Given the description of an element on the screen output the (x, y) to click on. 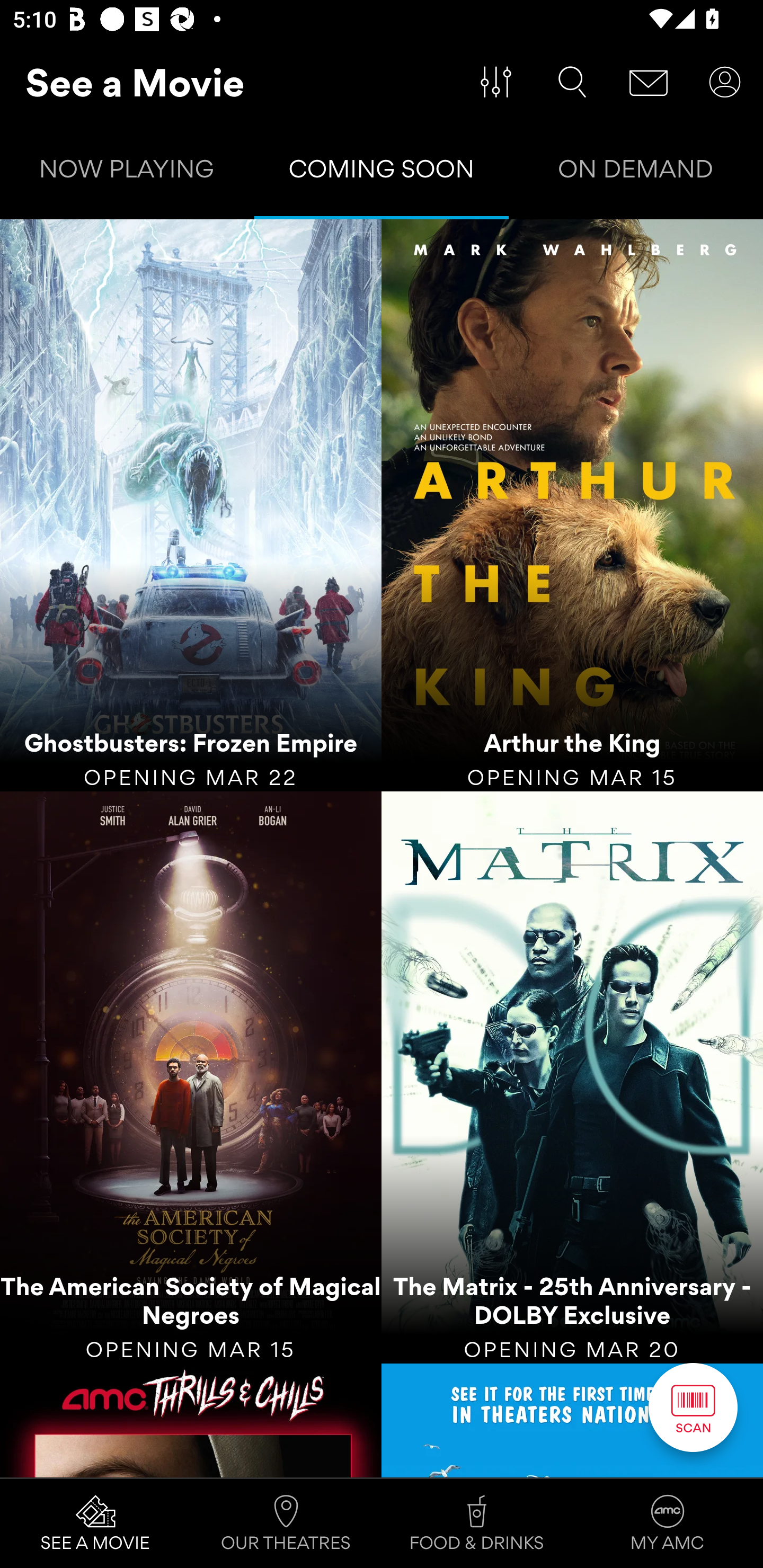
Filter Movies (495, 82)
Search (572, 82)
Message Center (648, 82)
User Account (724, 82)
NOW PLAYING
Tab 1 of 3 (127, 173)
COMING SOON
Tab 2 of 3 (381, 173)
ON DEMAND
Tab 3 of 3 (635, 173)
Ghostbusters: Frozen Empire
OPENING MAR 22 (190, 505)
Arthur the King
OPENING MAR 15 (572, 505)
Scan Button (692, 1406)
SEE A MOVIE
Tab 1 of 4 (95, 1523)
OUR THEATRES
Tab 2 of 4 (285, 1523)
FOOD & DRINKS
Tab 3 of 4 (476, 1523)
MY AMC
Tab 4 of 4 (667, 1523)
